Given the description of an element on the screen output the (x, y) to click on. 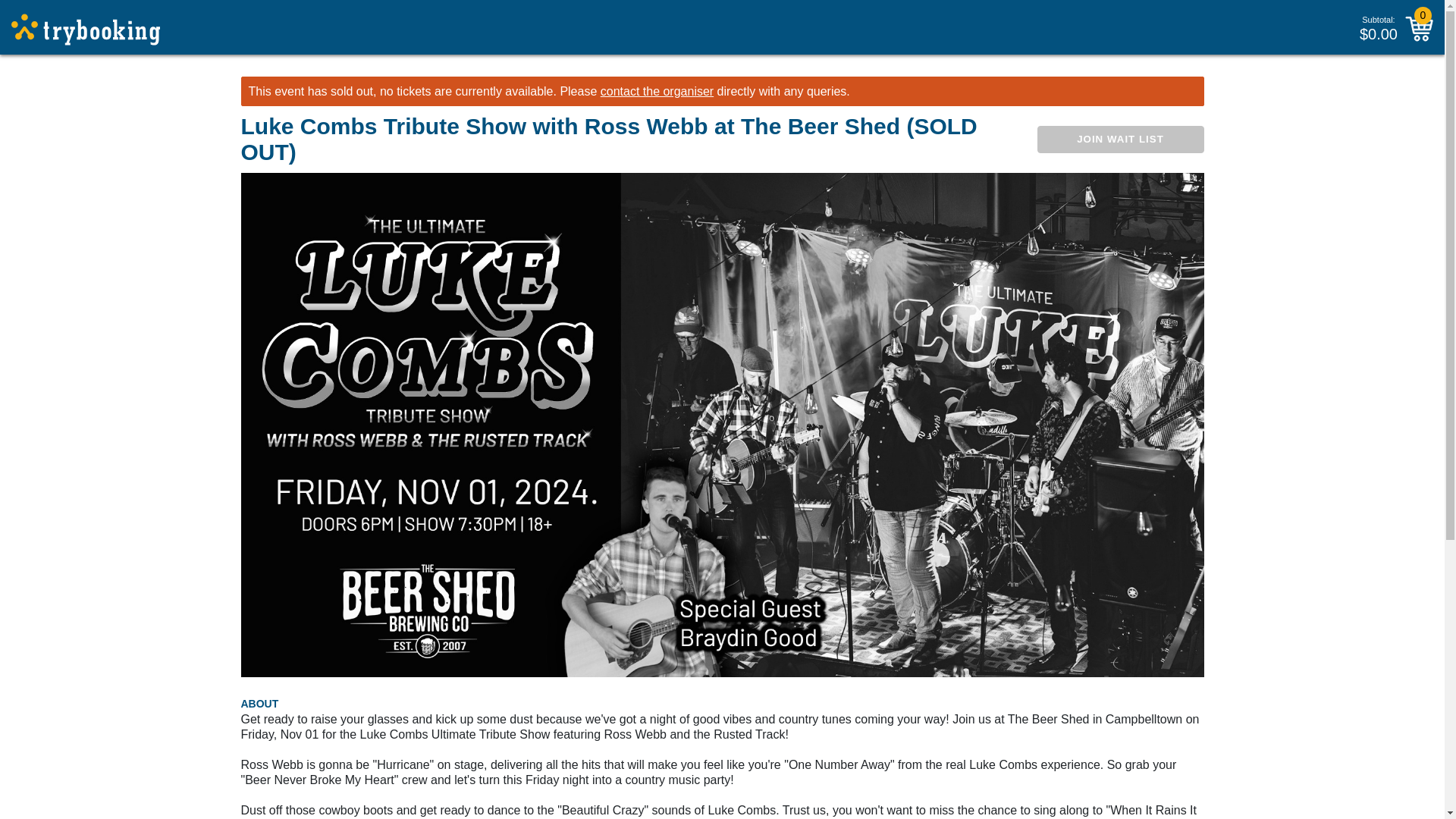
JOIN WAIT LIST (1120, 139)
TryBooking (85, 29)
contact the organiser (656, 91)
